Given the description of an element on the screen output the (x, y) to click on. 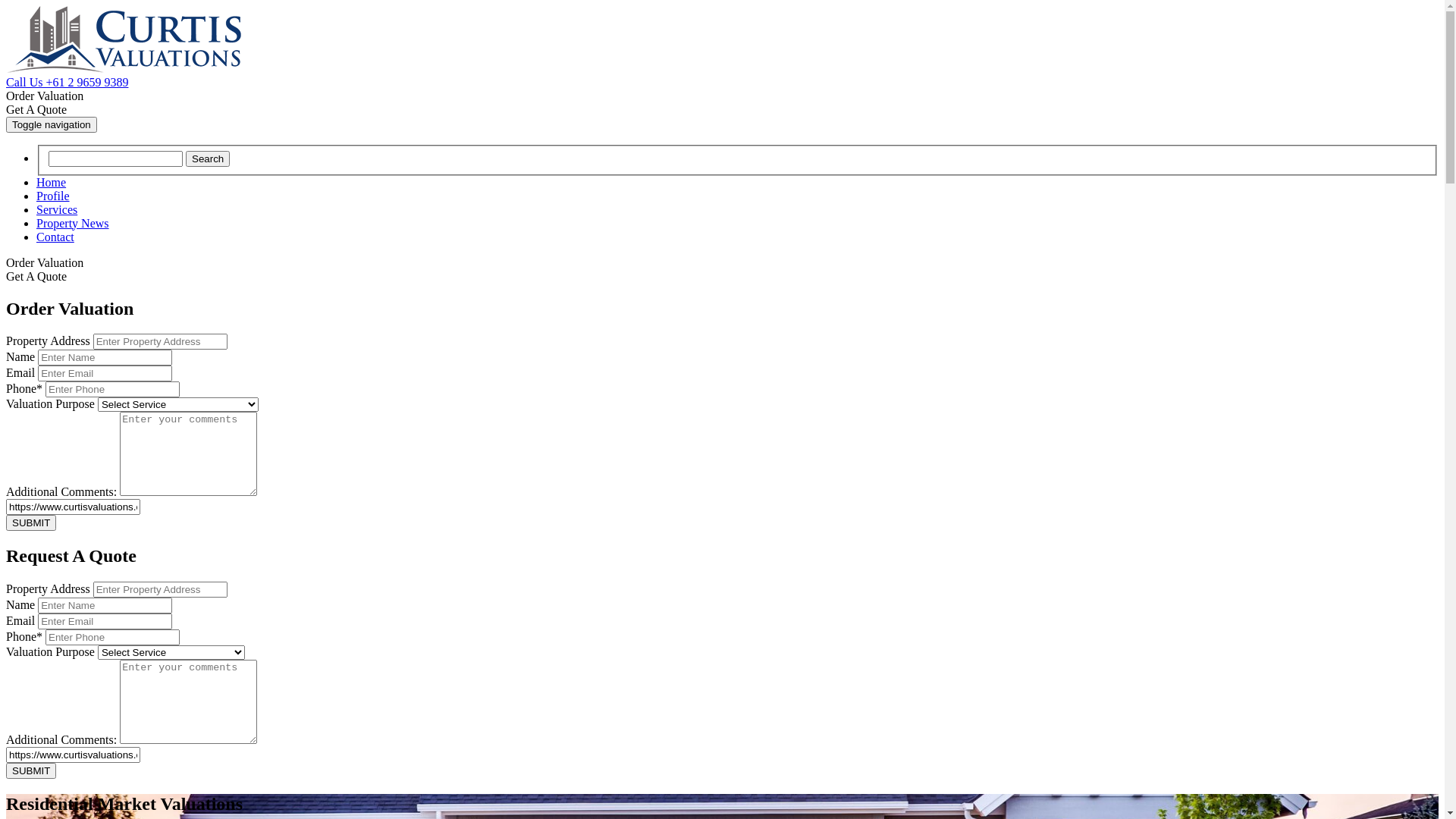
SUBMIT Element type: text (31, 522)
Call Us +61 2 9659 9389 Element type: text (67, 81)
Services Element type: text (56, 209)
Profile Element type: text (52, 195)
Contact Element type: text (55, 236)
SUBMIT Element type: text (31, 770)
Toggle navigation Element type: text (51, 124)
Property News Element type: text (72, 222)
Property Valuers Sydney Element type: hover (123, 39)
Search Element type: text (207, 158)
Home Element type: text (50, 181)
